Given the description of an element on the screen output the (x, y) to click on. 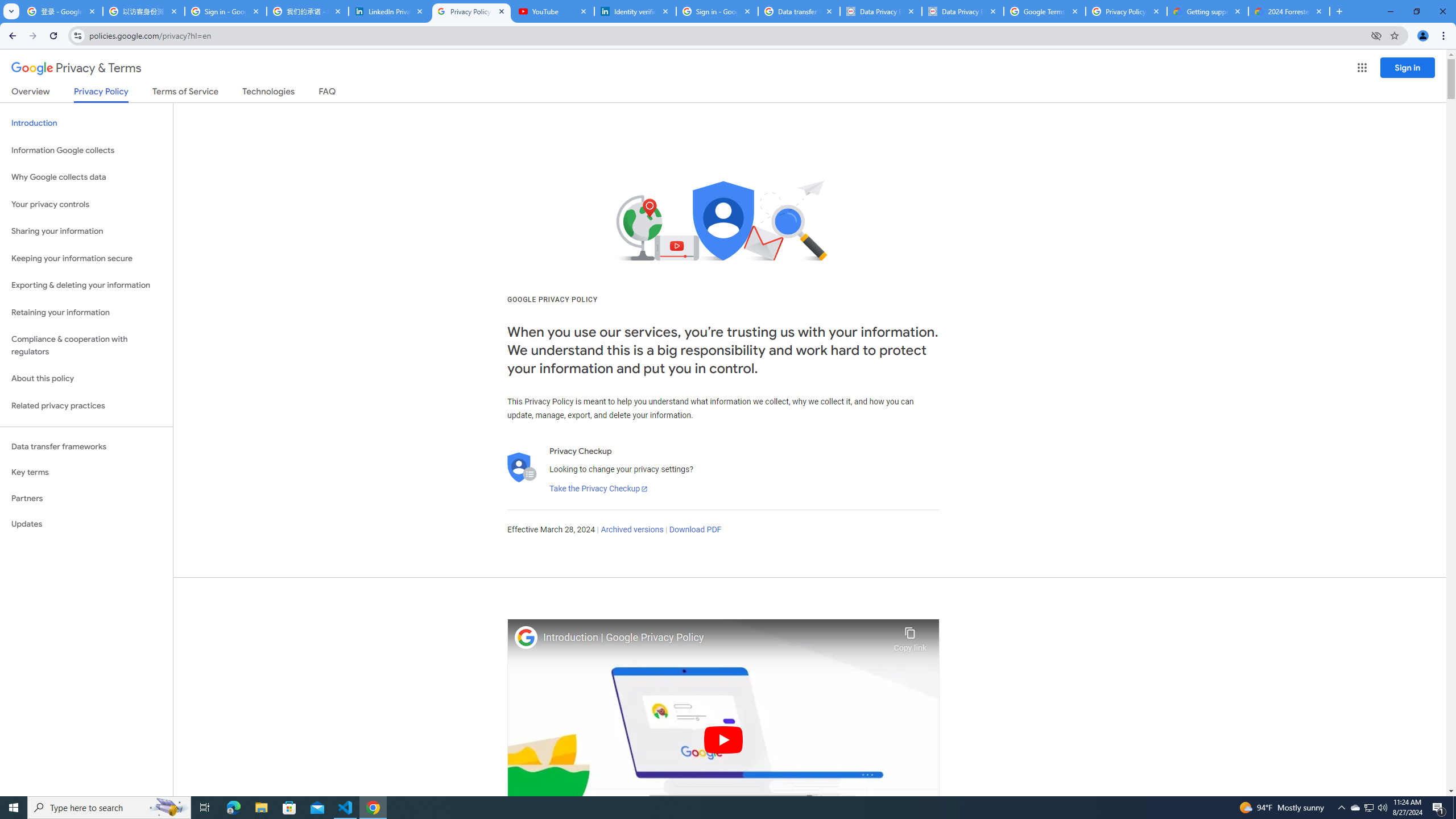
Data Privacy Framework (880, 11)
Data Privacy Framework (963, 11)
YouTube (552, 11)
Introduction | Google Privacy Policy (715, 637)
